Given the description of an element on the screen output the (x, y) to click on. 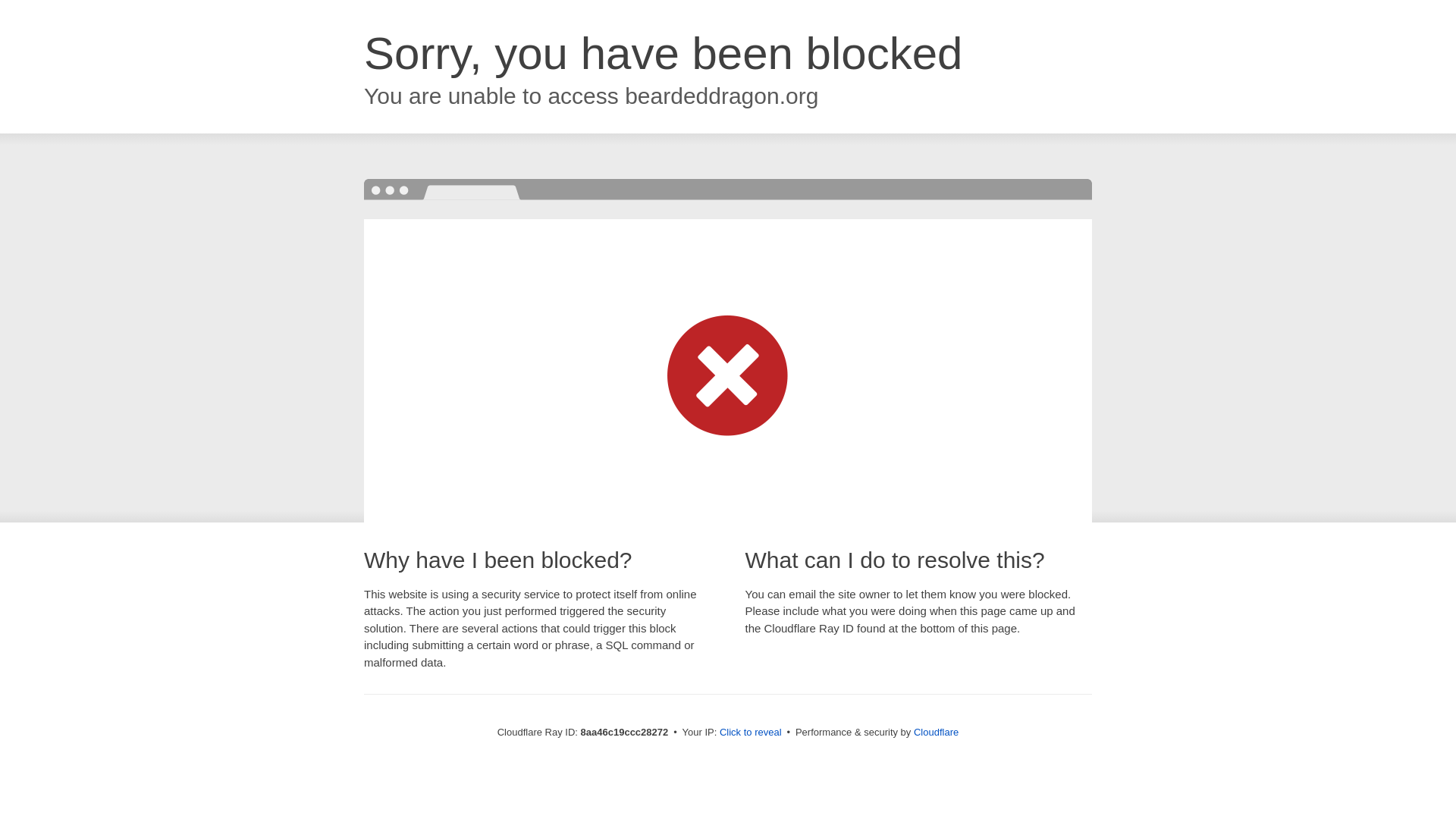
Click to reveal (750, 732)
Cloudflare (936, 731)
